Given the description of an element on the screen output the (x, y) to click on. 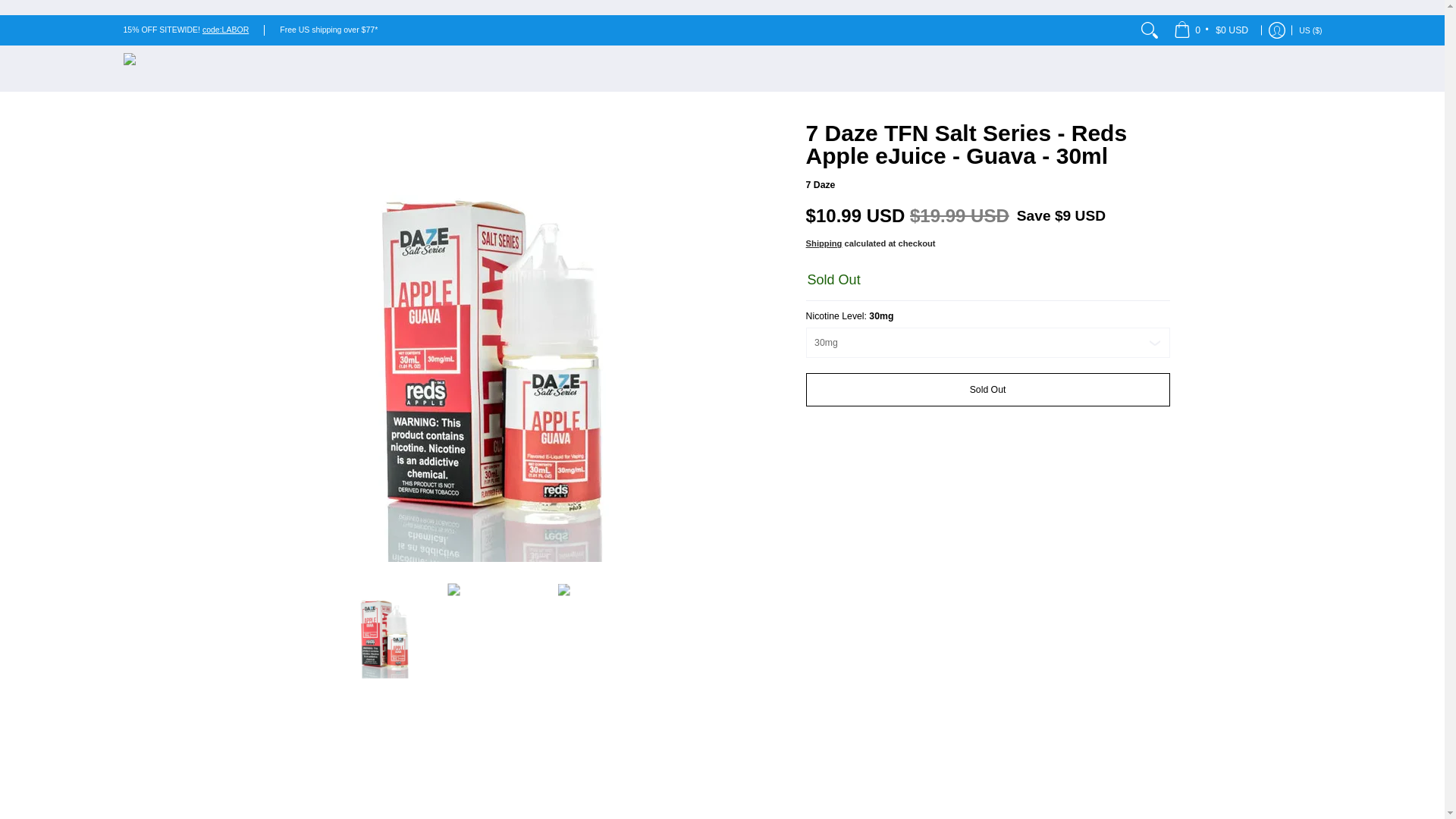
BG (1153, 17)
BF (1163, 47)
VaporDNA (186, 67)
Log in (1277, 30)
code:LABOR (225, 29)
What's New (225, 29)
Cart (1211, 30)
